Given the description of an element on the screen output the (x, y) to click on. 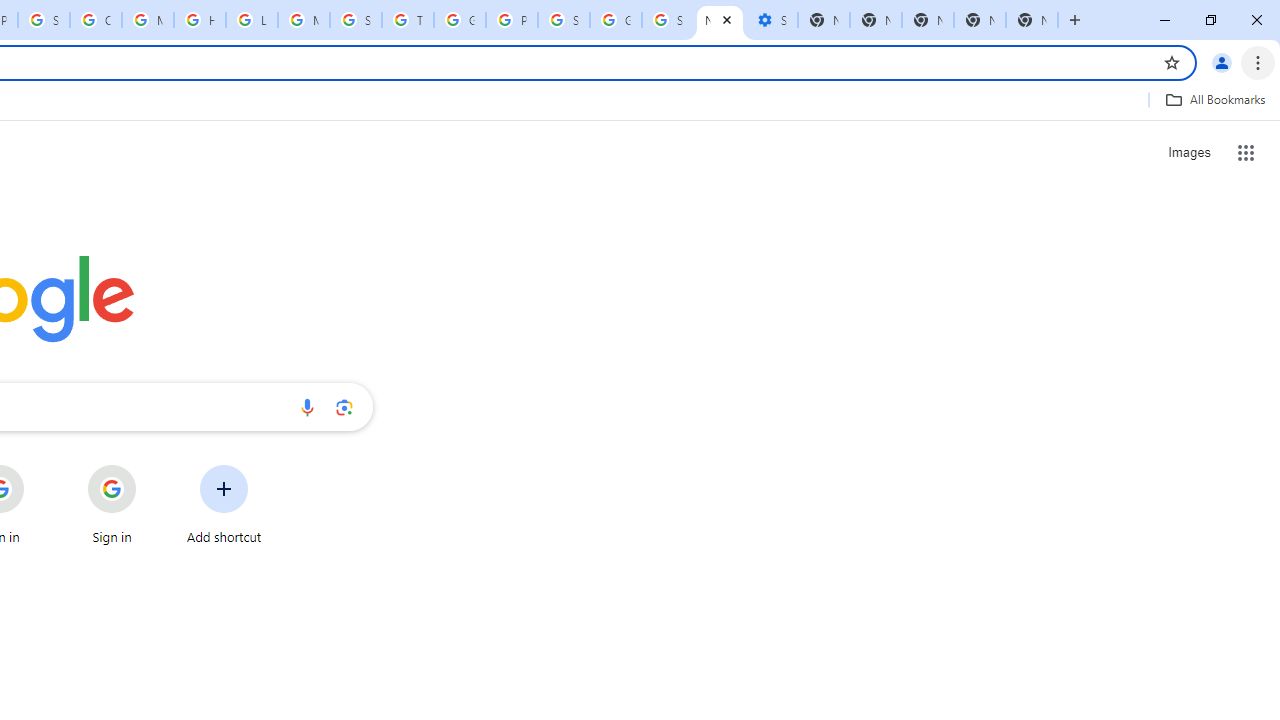
New Tab (979, 20)
Google Cybersecurity Innovations - Google Safety Center (616, 20)
Search our Doodle Library Collection - Google Doodles (355, 20)
Google Ads - Sign in (459, 20)
